Given the description of an element on the screen output the (x, y) to click on. 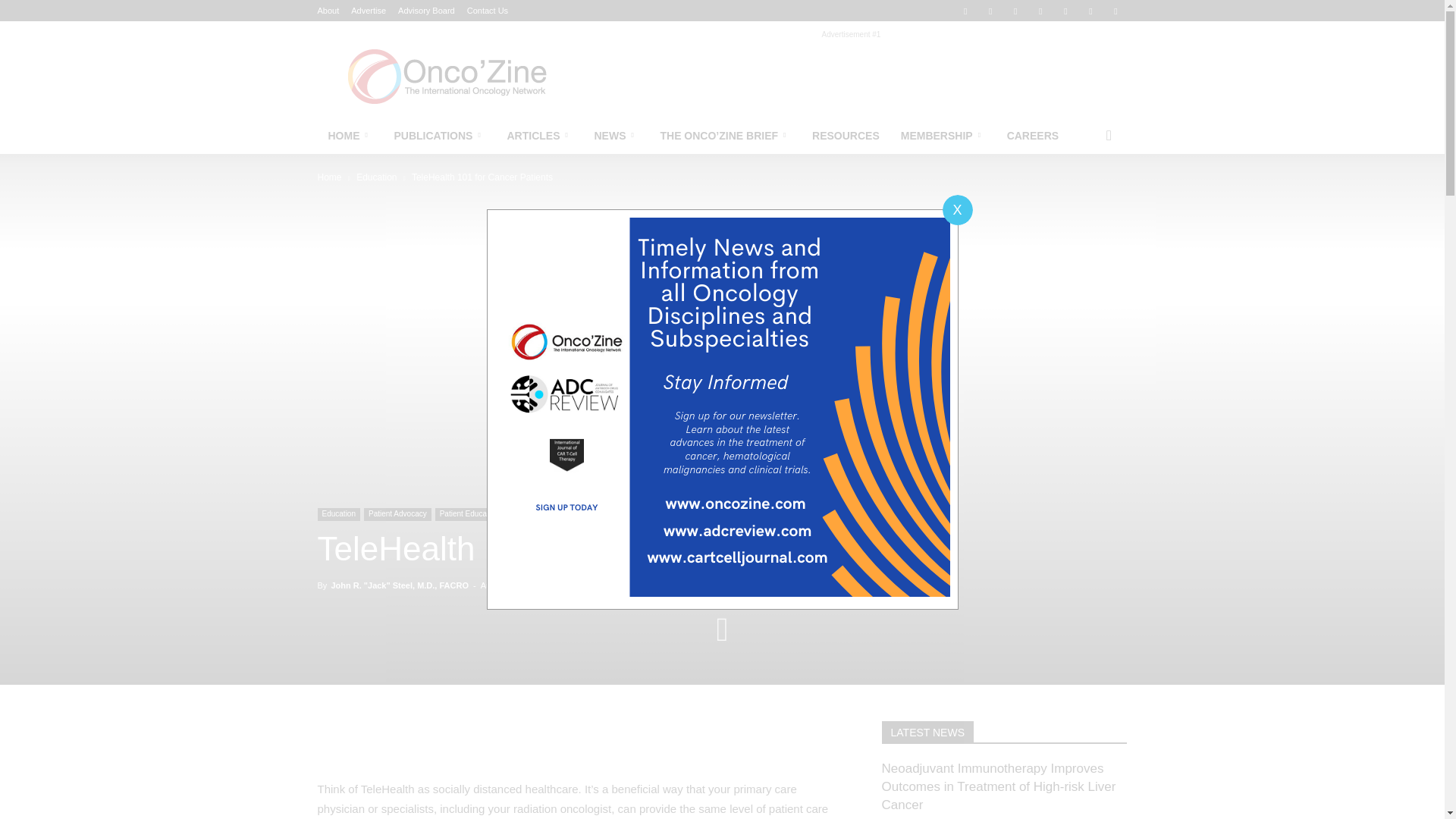
Youtube (1090, 10)
Vimeo (1065, 10)
Twitter (1040, 10)
Xing (1114, 10)
OncoZine, The International Oncology Network (445, 76)
Soundcloud (1015, 10)
Linkedin (989, 10)
Facebook (964, 10)
